Given the description of an element on the screen output the (x, y) to click on. 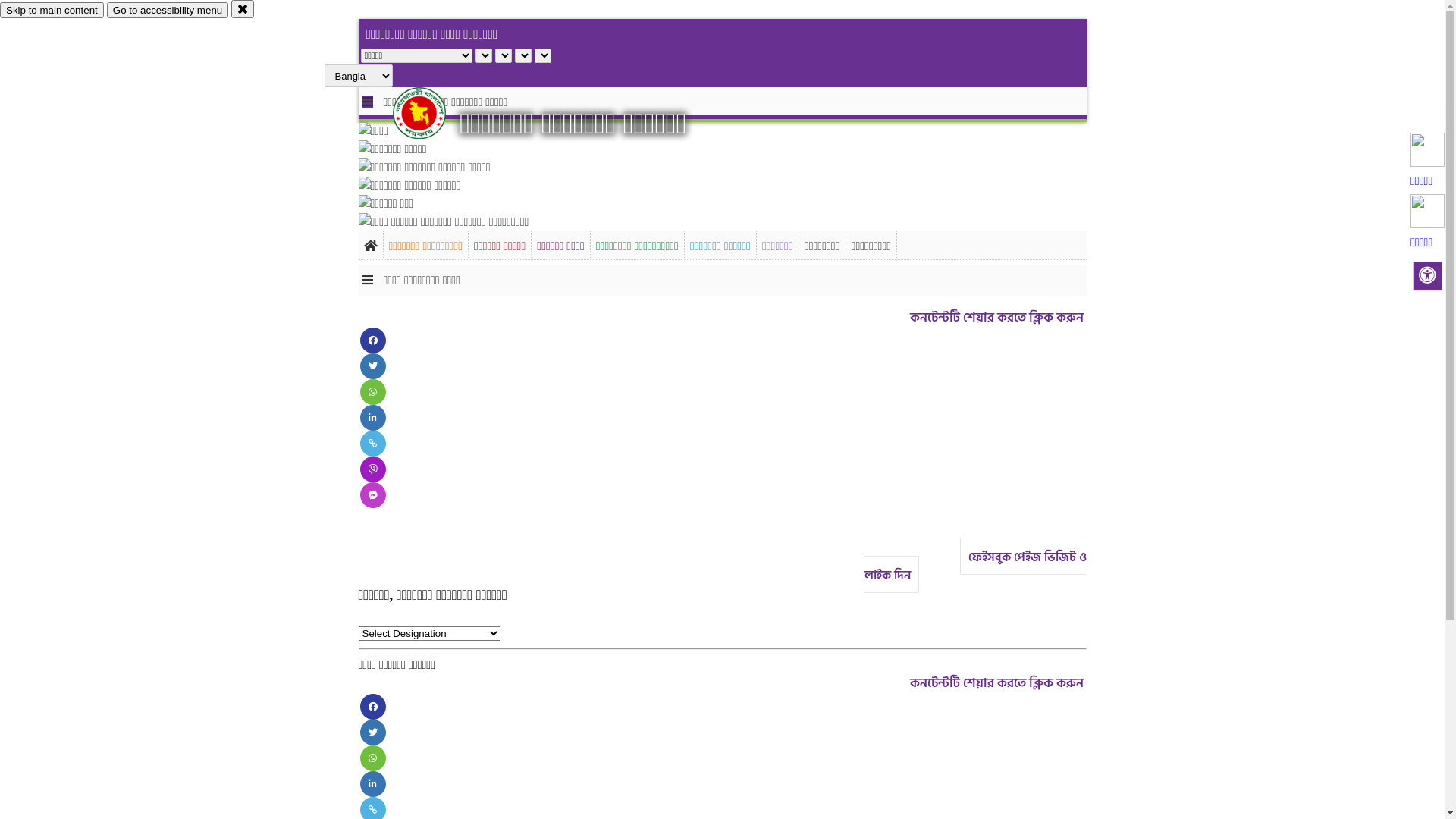
close Element type: hover (242, 9)
Skip to main content Element type: text (51, 10)

                
             Element type: hover (431, 112)
Go to accessibility menu Element type: text (167, 10)
